Given the description of an element on the screen output the (x, y) to click on. 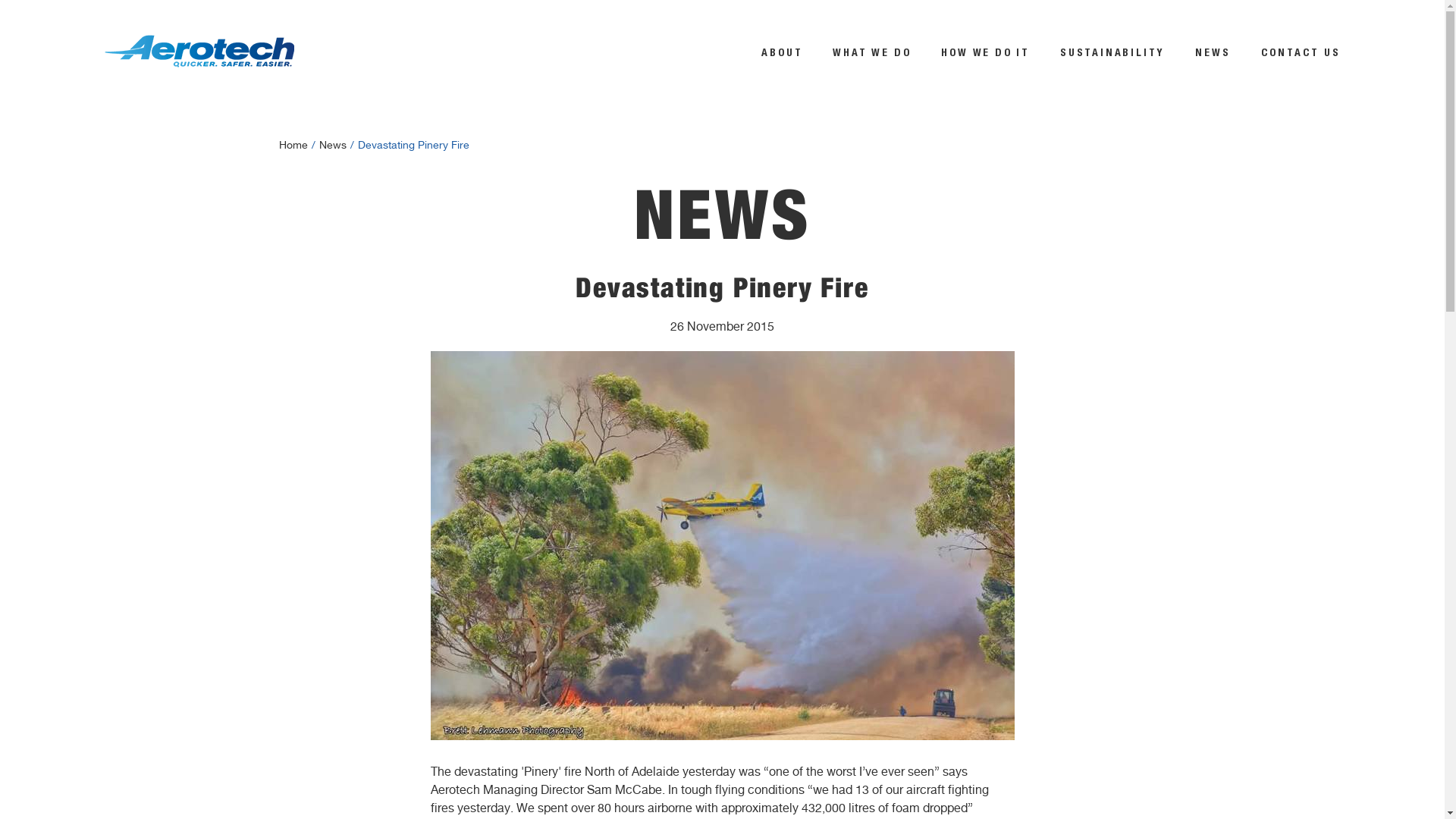
NEWS Element type: text (1212, 53)
SUSTAINABILITY Element type: text (1112, 53)
HOW WE DO IT Element type: text (985, 53)
CONTACT US Element type: text (1299, 53)
Home Element type: text (293, 145)
News Element type: text (331, 145)
WHAT WE DO Element type: text (871, 53)
ABOUT Element type: text (781, 53)
